Given the description of an element on the screen output the (x, y) to click on. 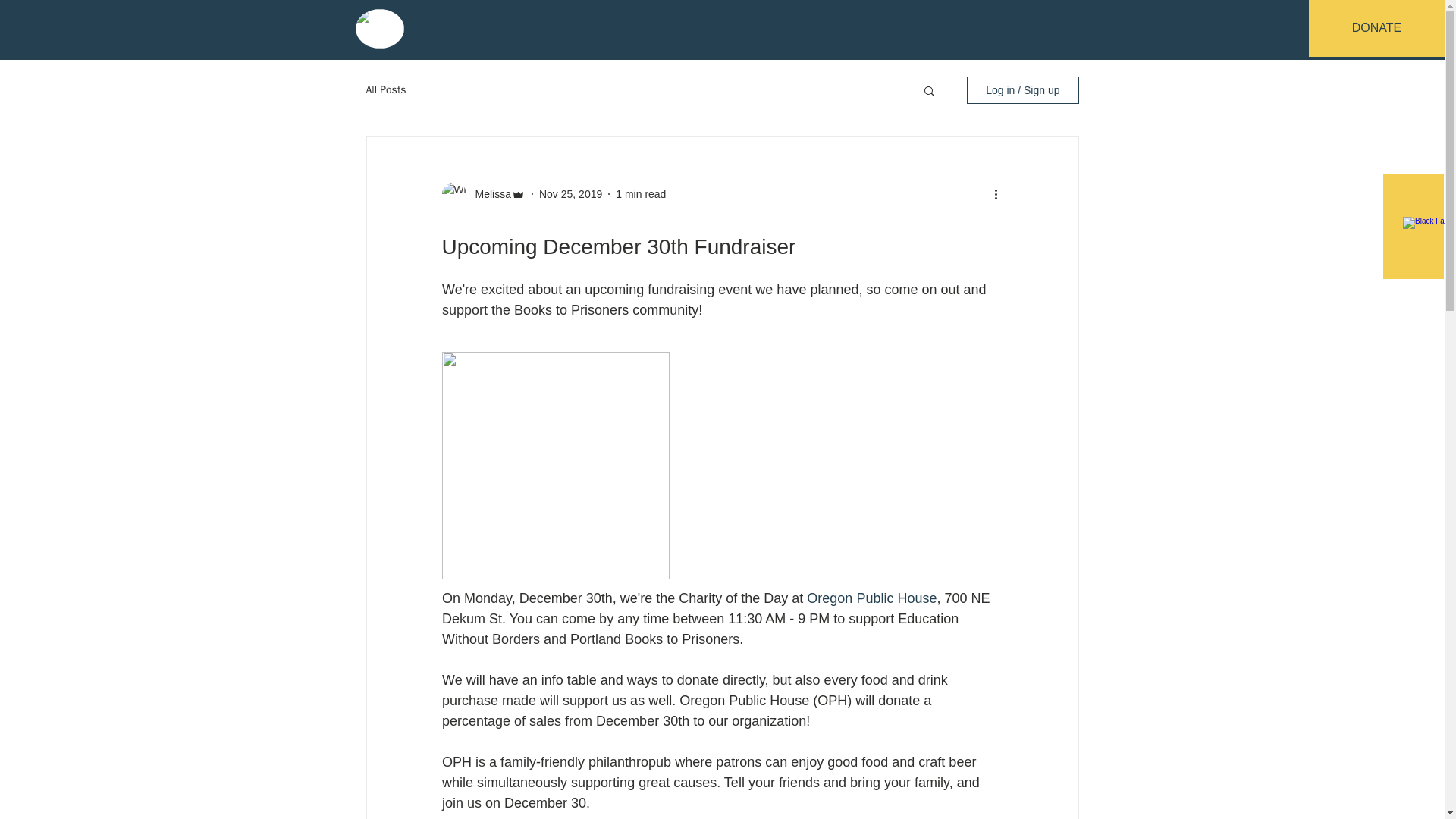
All Posts (385, 90)
Nov 25, 2019 (570, 193)
1 min read (640, 193)
Melissa (488, 194)
Oregon Public House (871, 598)
EWOB GLOBAL (493, 32)
